Given the description of an element on the screen output the (x, y) to click on. 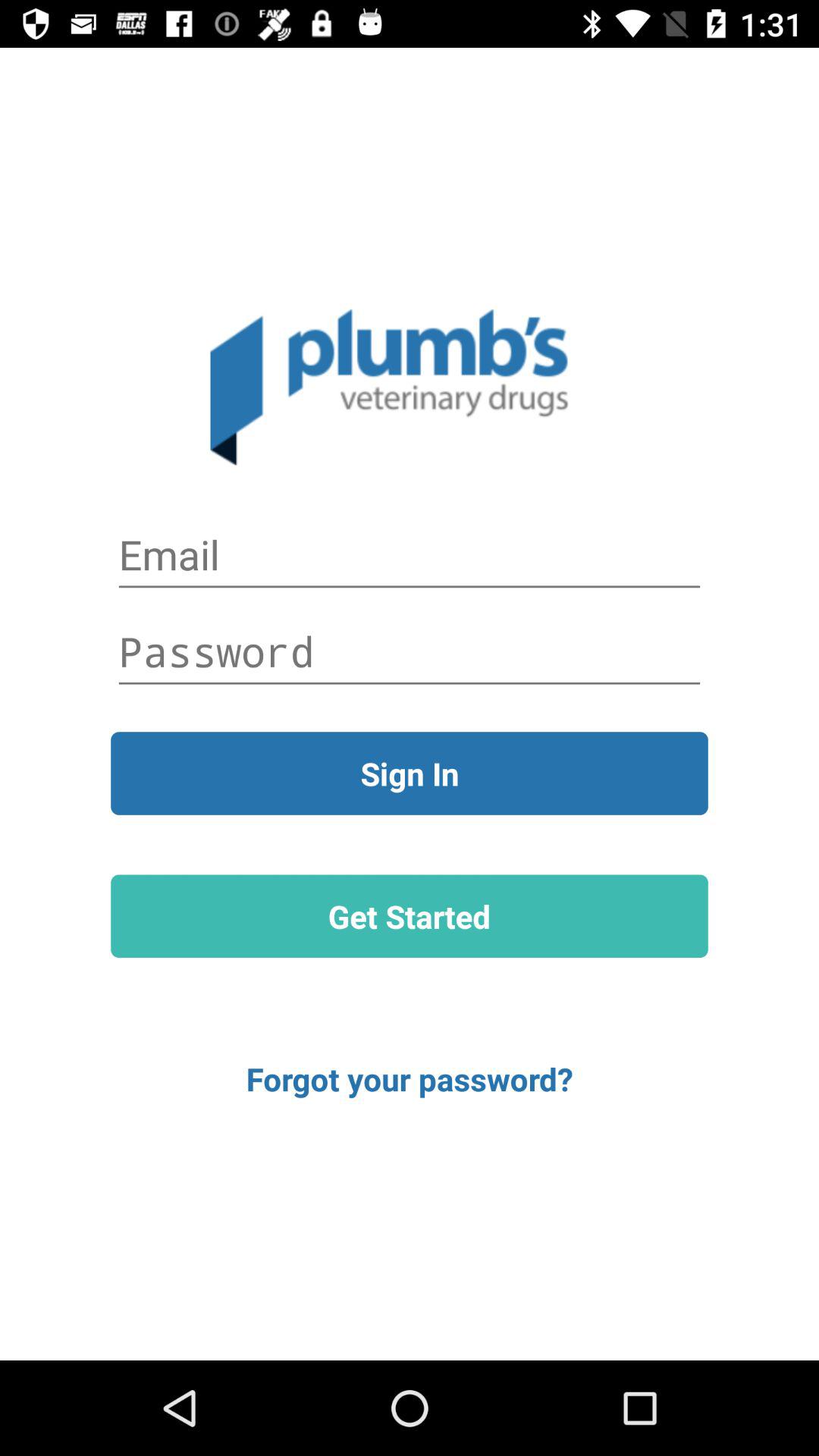
open icon below the sign in icon (409, 915)
